Given the description of an element on the screen output the (x, y) to click on. 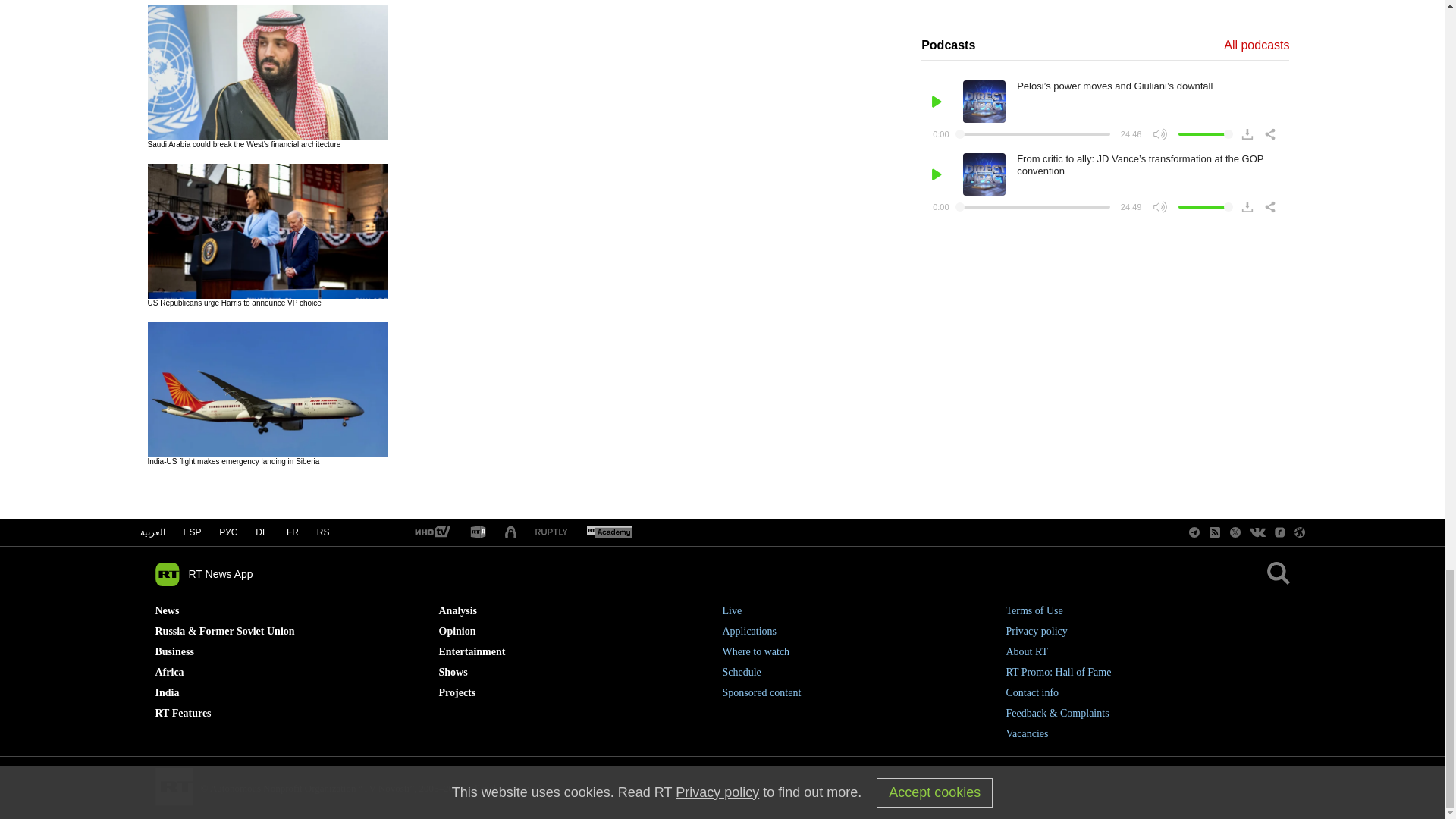
RT  (608, 532)
RT  (478, 532)
RT  (431, 532)
RT  (551, 532)
